Given the description of an element on the screen output the (x, y) to click on. 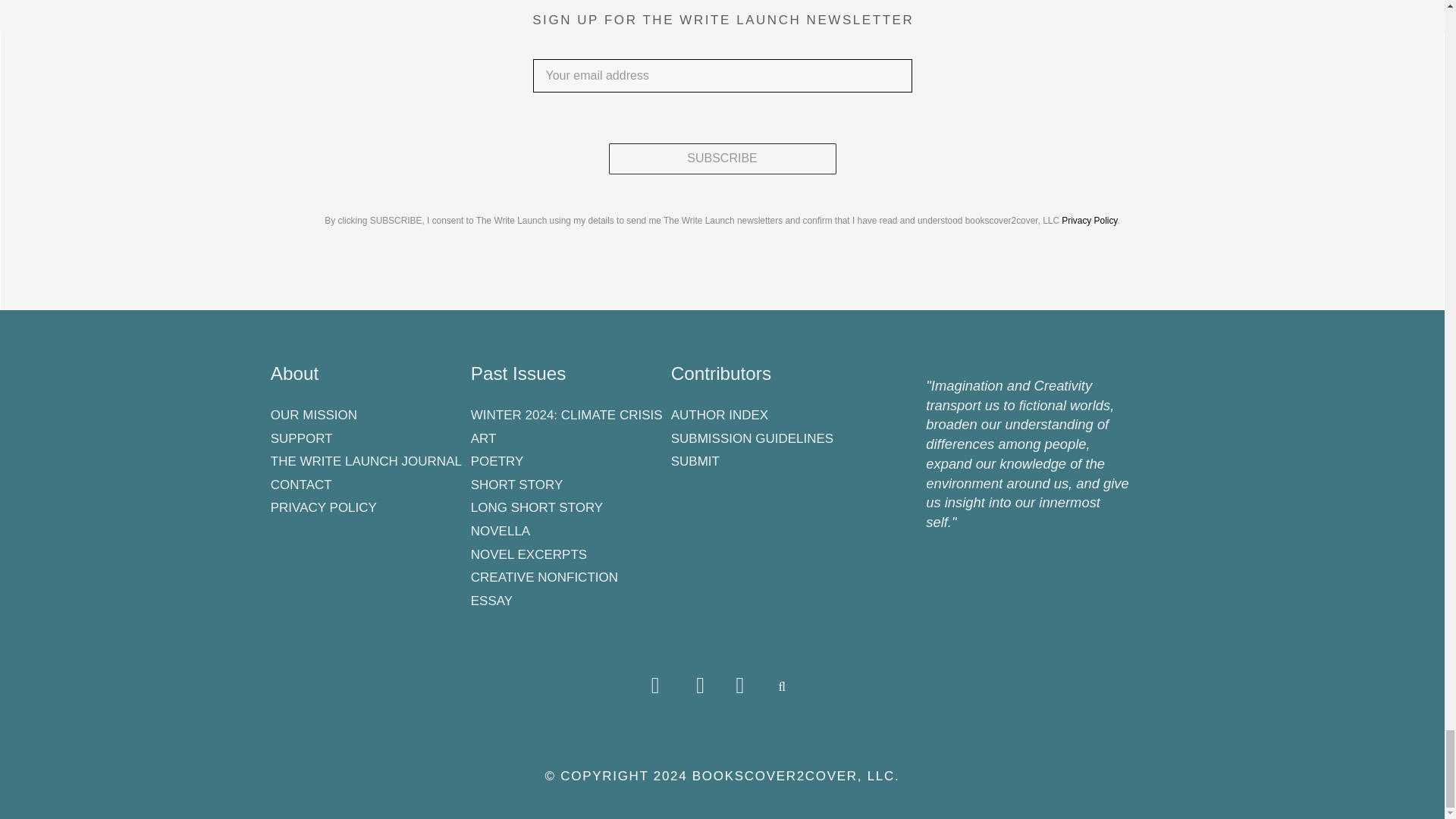
WINTER 2024: CLIMATE CRISIS (567, 413)
OUR MISSION (367, 413)
Subscribe (721, 158)
NOVEL EXCERPTS (567, 551)
SHORT STORY (567, 481)
CREATIVE NONFICTION (567, 575)
AUTHOR INDEX (767, 413)
THE WRITE LAUNCH JOURNAL (367, 458)
LONG SHORT STORY (567, 504)
PRIVACY POLICY (367, 504)
